Given the description of an element on the screen output the (x, y) to click on. 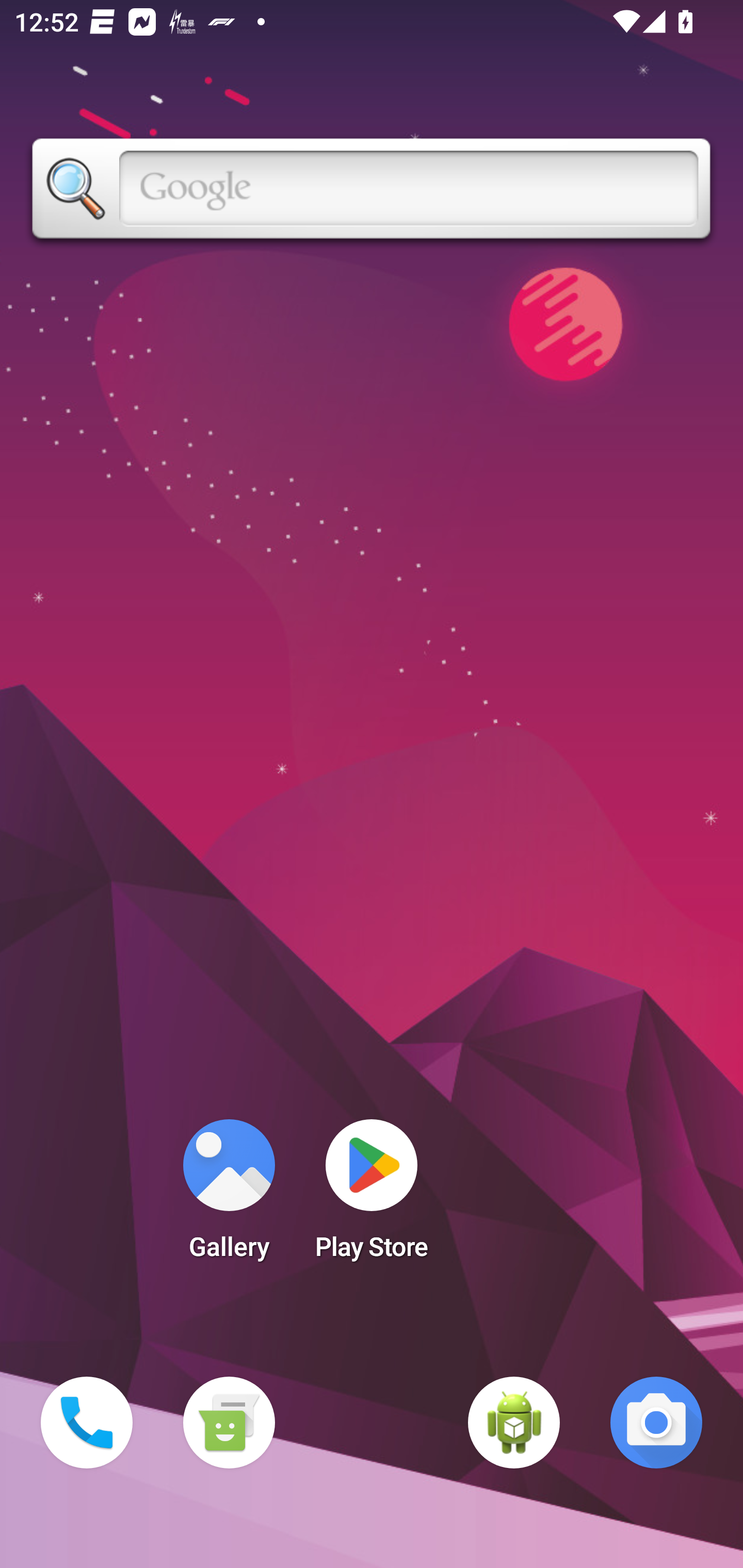
Gallery (228, 1195)
Play Store (371, 1195)
Phone (86, 1422)
Messaging (228, 1422)
WebView Browser Tester (513, 1422)
Camera (656, 1422)
